Given the description of an element on the screen output the (x, y) to click on. 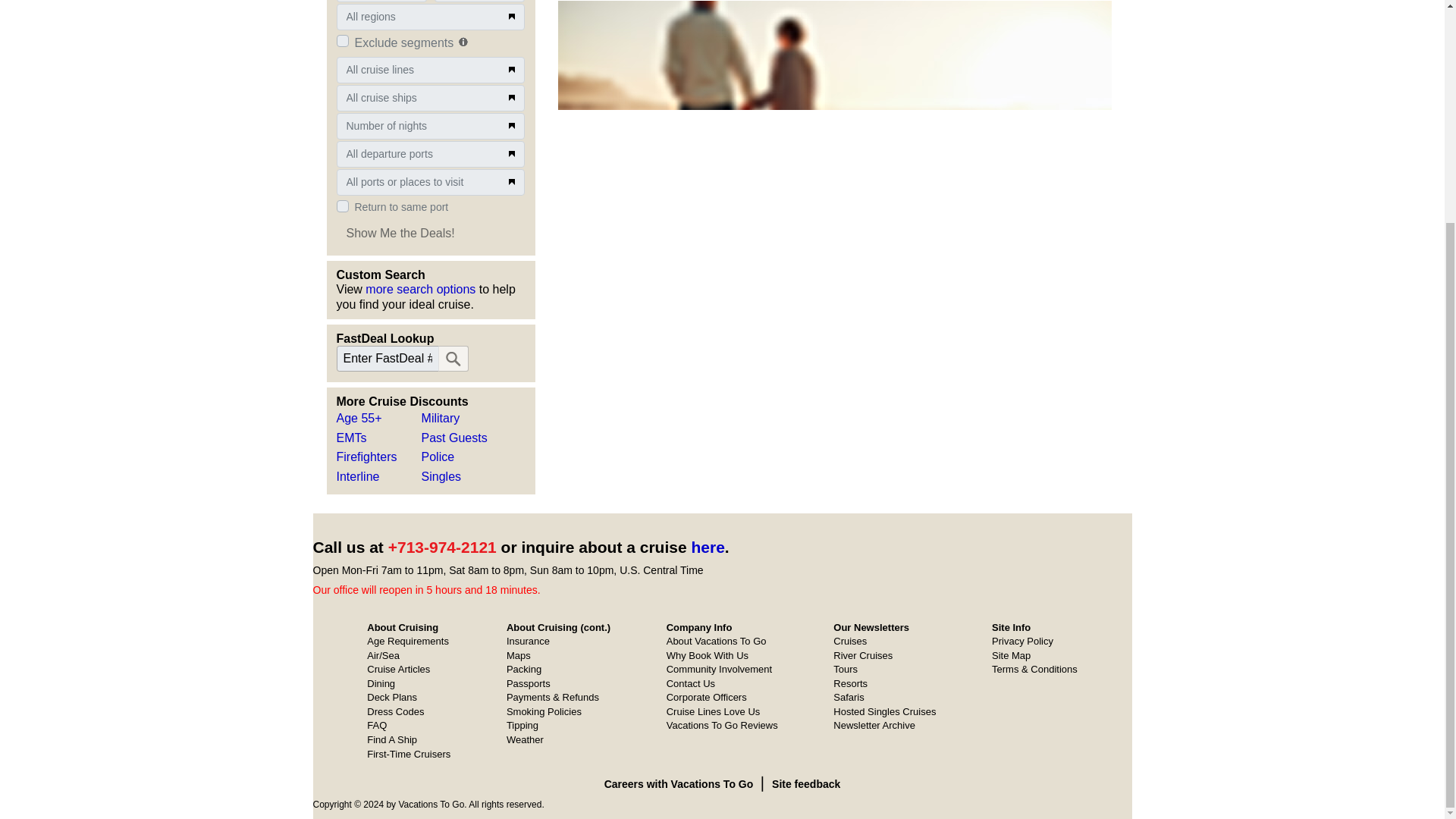
Show Me the Deals! (400, 232)
